Given the description of an element on the screen output the (x, y) to click on. 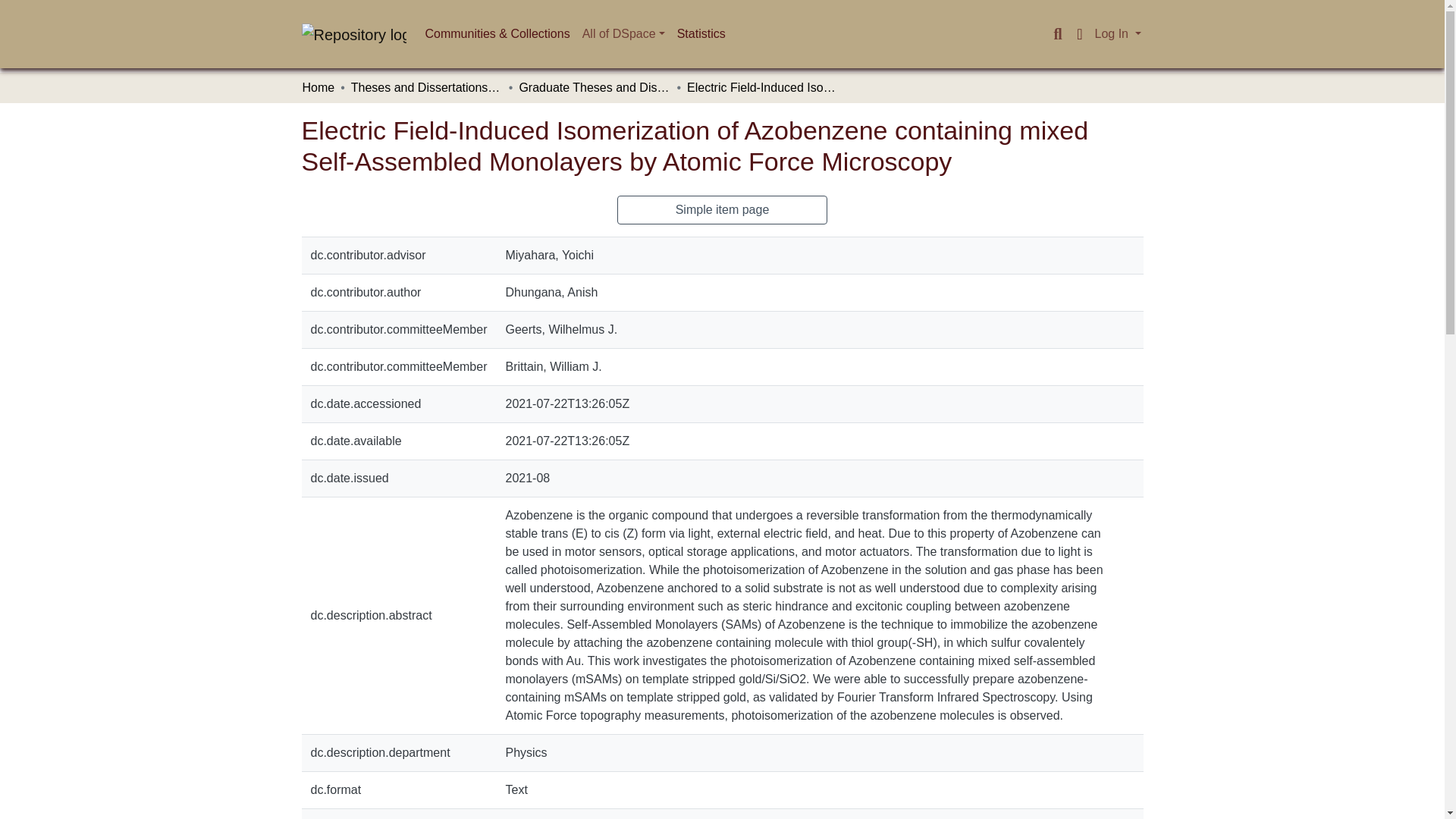
Search (1057, 34)
Statistics (701, 33)
Graduate Theses and Dissertations (593, 87)
Language switch (1079, 34)
Simple item page (722, 209)
All of DSpace (623, 33)
Theses and Dissertations, Capstones, and Directed Research (426, 87)
Home (317, 87)
Log In (1117, 33)
Statistics (701, 33)
